Given the description of an element on the screen output the (x, y) to click on. 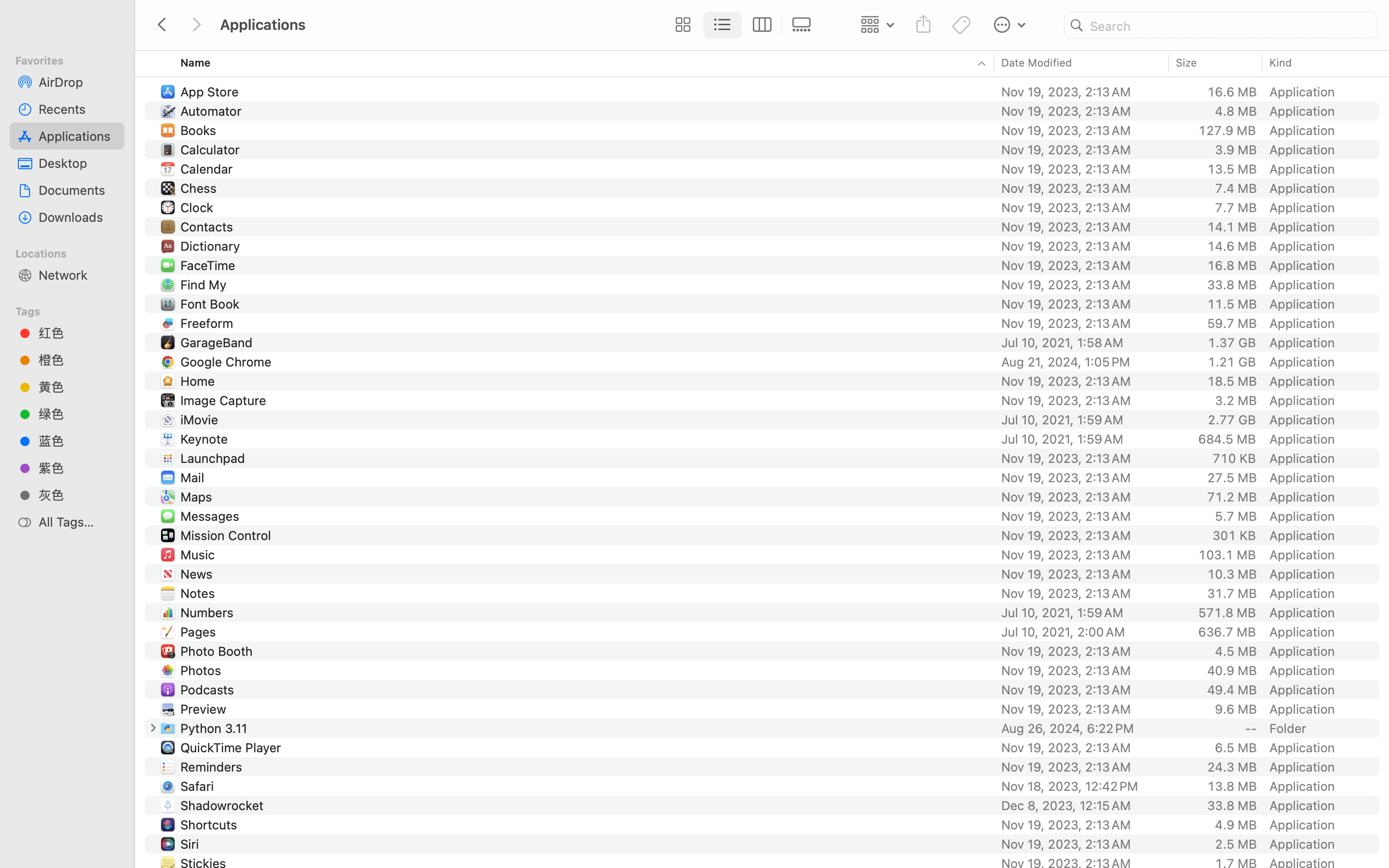
684.5 MB Element type: AXStaticText (1226, 438)
16.6 MB Element type: AXStaticText (1231, 91)
5.7 MB Element type: AXStaticText (1235, 515)
Font Book Element type: AXTextField (211, 303)
Tags Element type: AXStaticText (72, 309)
